Given the description of an element on the screen output the (x, y) to click on. 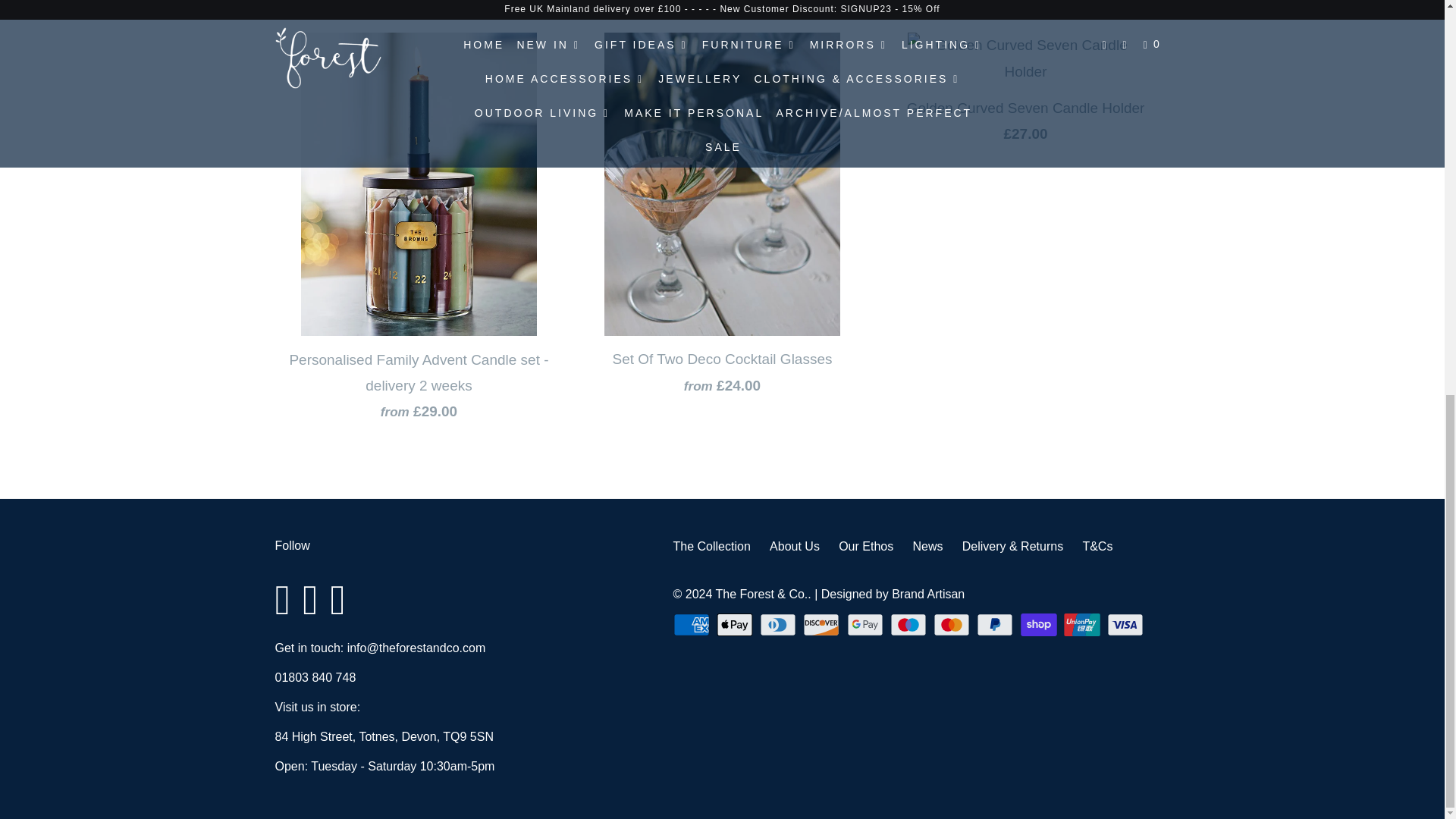
Visa (1126, 624)
PayPal (996, 624)
Google Pay (866, 624)
Maestro (909, 624)
Apple Pay (735, 624)
Shop Pay (1039, 624)
Mastercard (952, 624)
American Express (692, 624)
Discover (823, 624)
Diners Club (779, 624)
Union Pay (1083, 624)
